Given the description of an element on the screen output the (x, y) to click on. 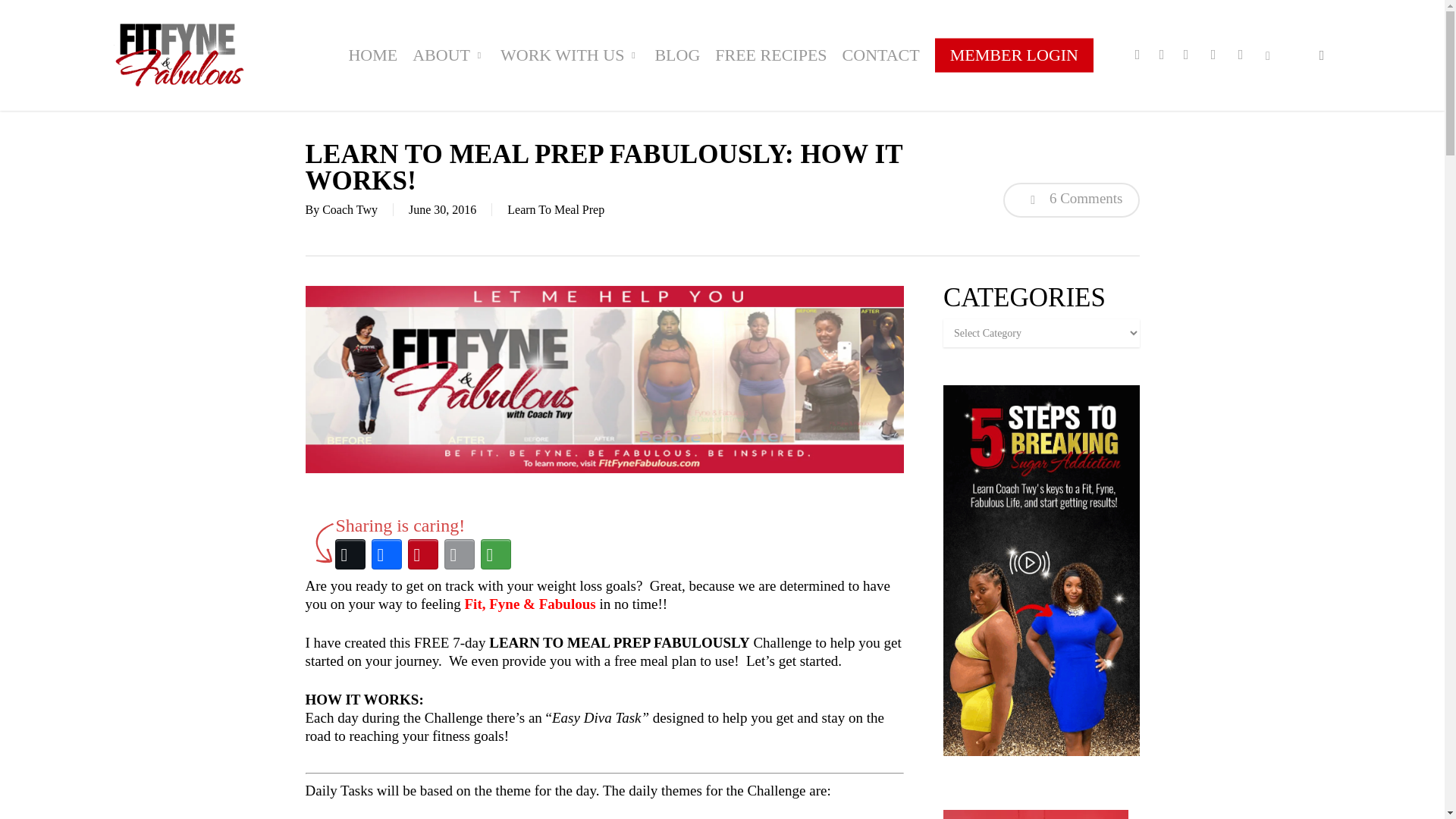
Posts by Coach Twy (349, 209)
TIKTOK (1267, 55)
HOME (372, 55)
FACEBOOK (1161, 55)
WORK WITH US (569, 55)
More Options (495, 554)
Coach Twy (349, 209)
Email This (459, 554)
ABOUT (448, 55)
search (1321, 55)
Pinterest (422, 554)
YOUTUBE (1213, 55)
6 Comments (1070, 199)
PINTEREST (1185, 55)
CONTACT (880, 55)
